Given the description of an element on the screen output the (x, y) to click on. 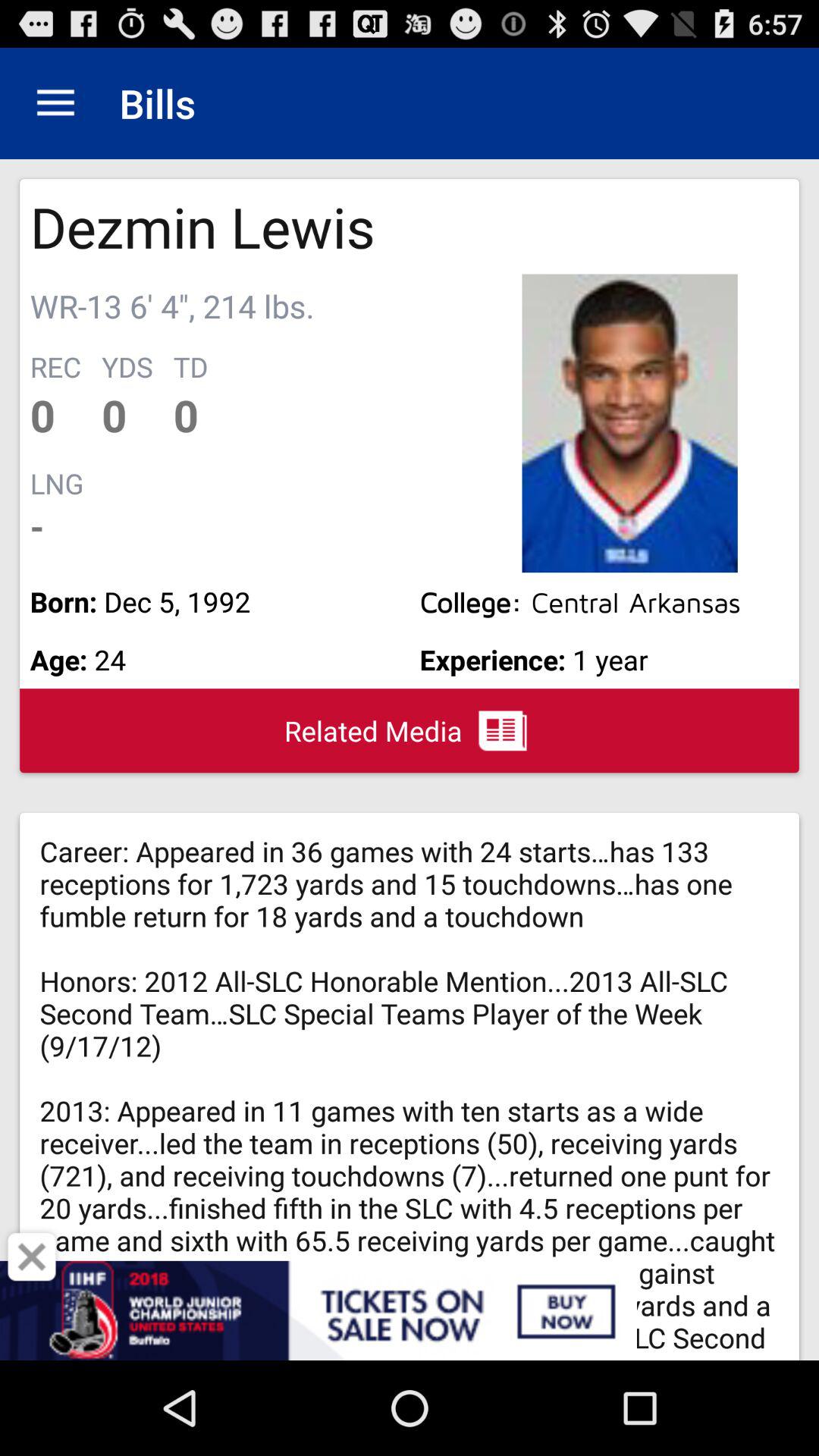
turn on the app to the left of the bills item (55, 103)
